Given the description of an element on the screen output the (x, y) to click on. 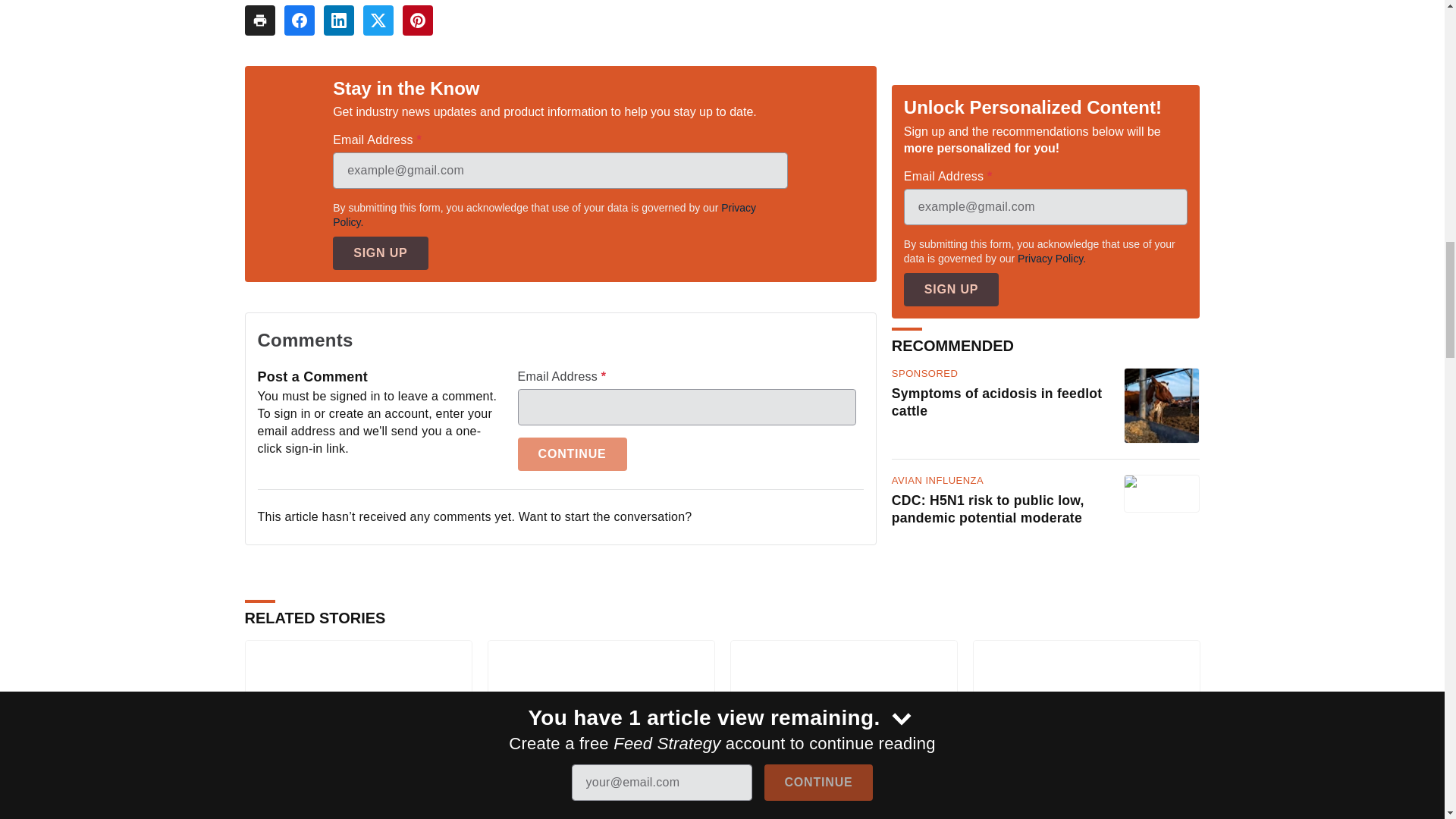
Home (502, 808)
Share To facebook (298, 20)
Share To linkedin (338, 20)
Share To print (259, 20)
Share To pinterest (416, 20)
Share To twitter (377, 20)
Sponsored (1007, 807)
Home (744, 808)
Home (259, 808)
